Given the description of an element on the screen output the (x, y) to click on. 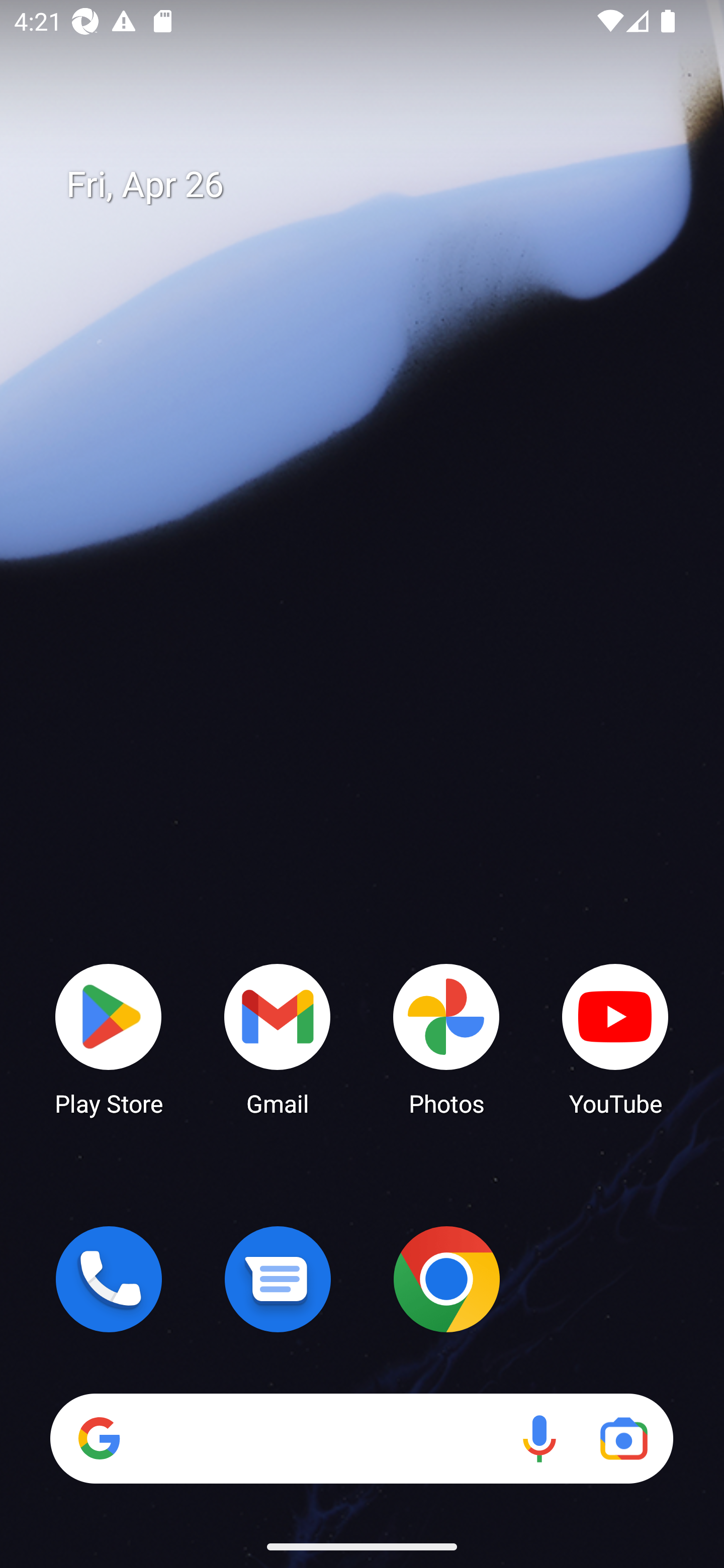
Fri, Apr 26 (375, 184)
Play Store (108, 1038)
Gmail (277, 1038)
Photos (445, 1038)
YouTube (615, 1038)
Phone (108, 1279)
Messages (277, 1279)
Chrome (446, 1279)
Search Voice search Google Lens (361, 1438)
Voice search (539, 1438)
Google Lens (623, 1438)
